Given the description of an element on the screen output the (x, y) to click on. 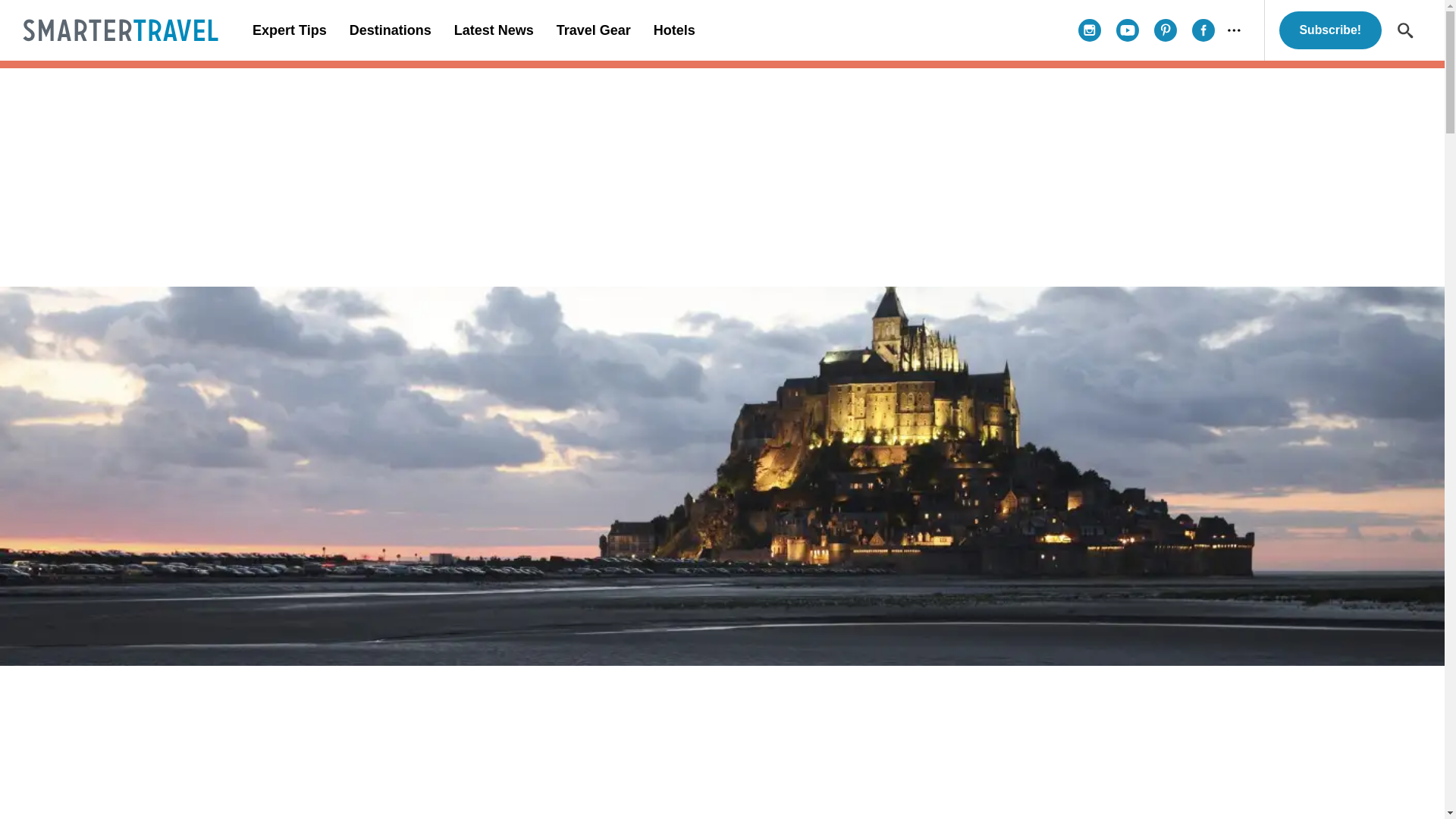
Subscribe! (1330, 30)
Destinations (389, 30)
Expert Tips (289, 30)
Latest News (493, 30)
Hotels (674, 30)
Travel Gear (593, 30)
